Given the description of an element on the screen output the (x, y) to click on. 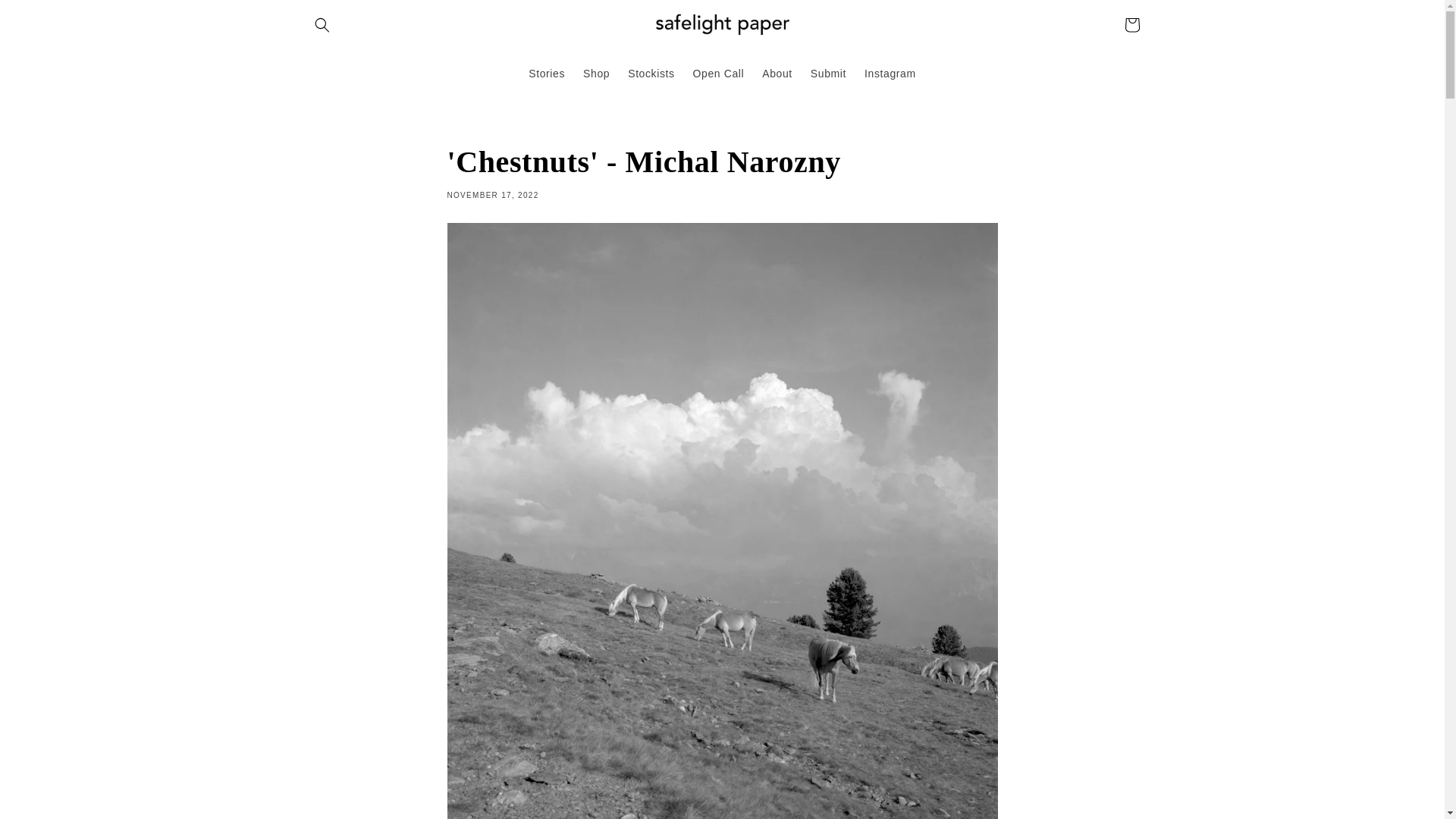
Submit (829, 73)
Skip to content (46, 18)
Open Call (719, 73)
Stories (546, 73)
Instagram (890, 73)
Cart (1131, 23)
Stockists (650, 73)
Shop (595, 73)
About (777, 73)
